Given the description of an element on the screen output the (x, y) to click on. 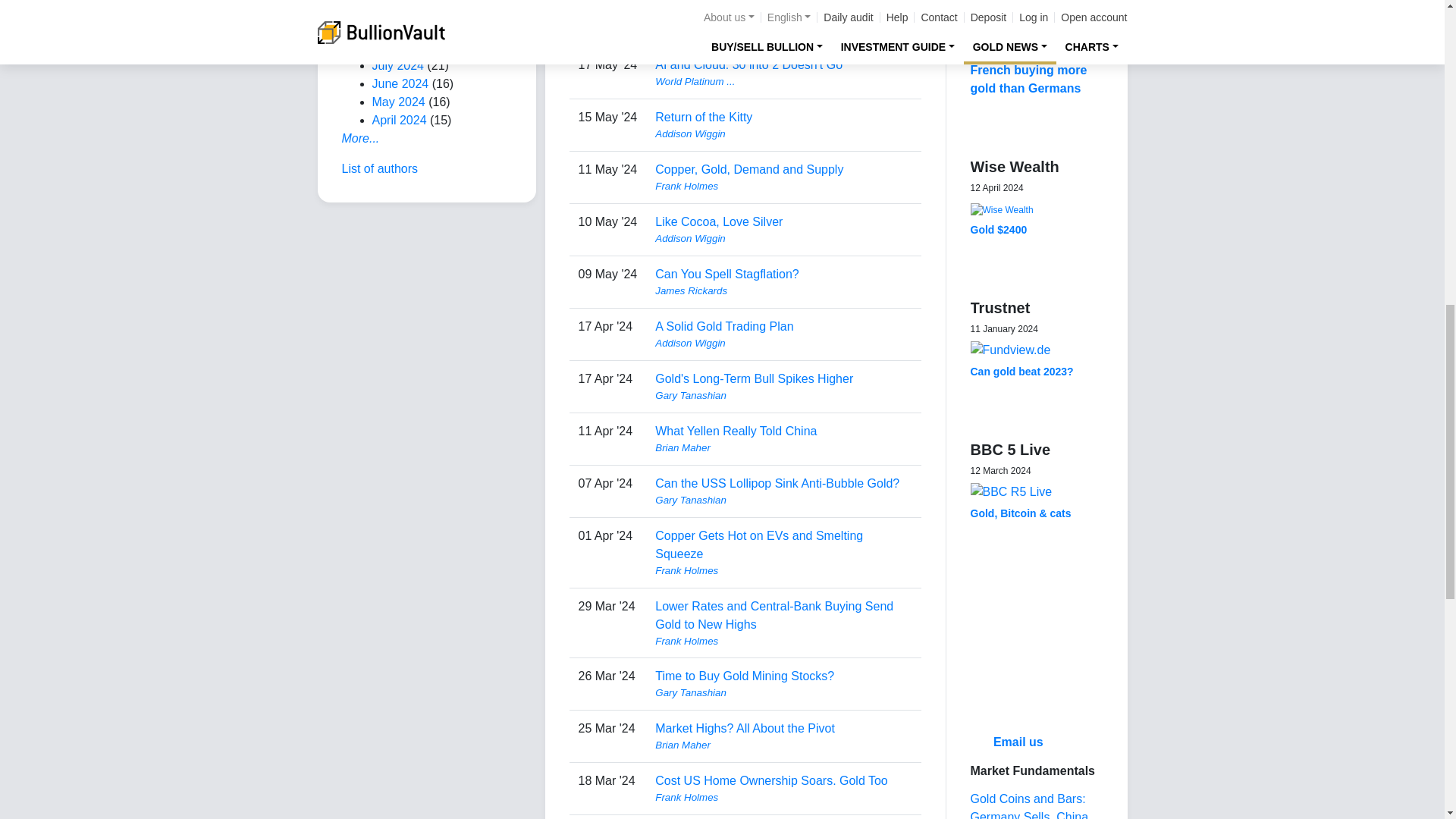
Books about Gold Reviewed (372, 1)
View user profile. (783, 29)
